Given the description of an element on the screen output the (x, y) to click on. 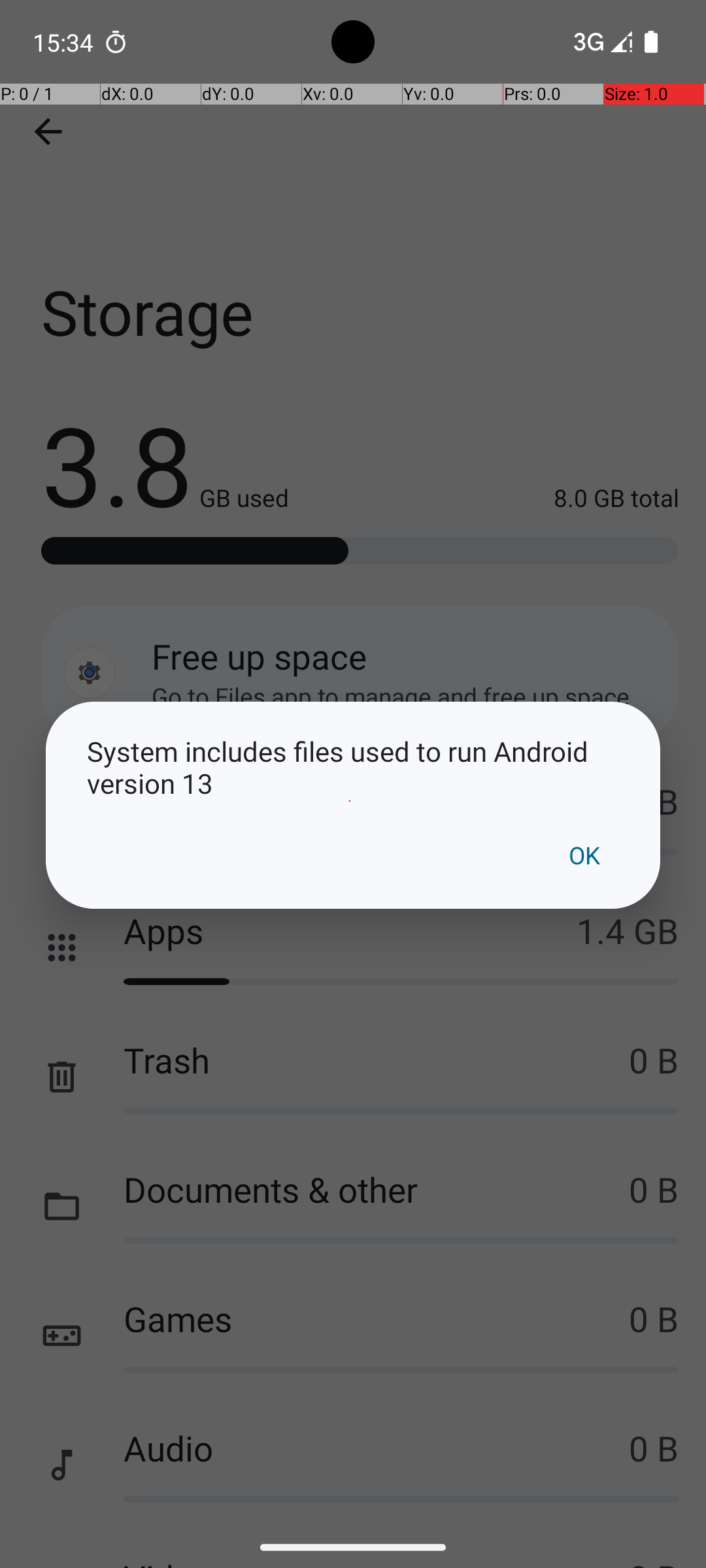
System includes files used to run Android version 13 Element type: android.widget.TextView (352, 766)
